Given the description of an element on the screen output the (x, y) to click on. 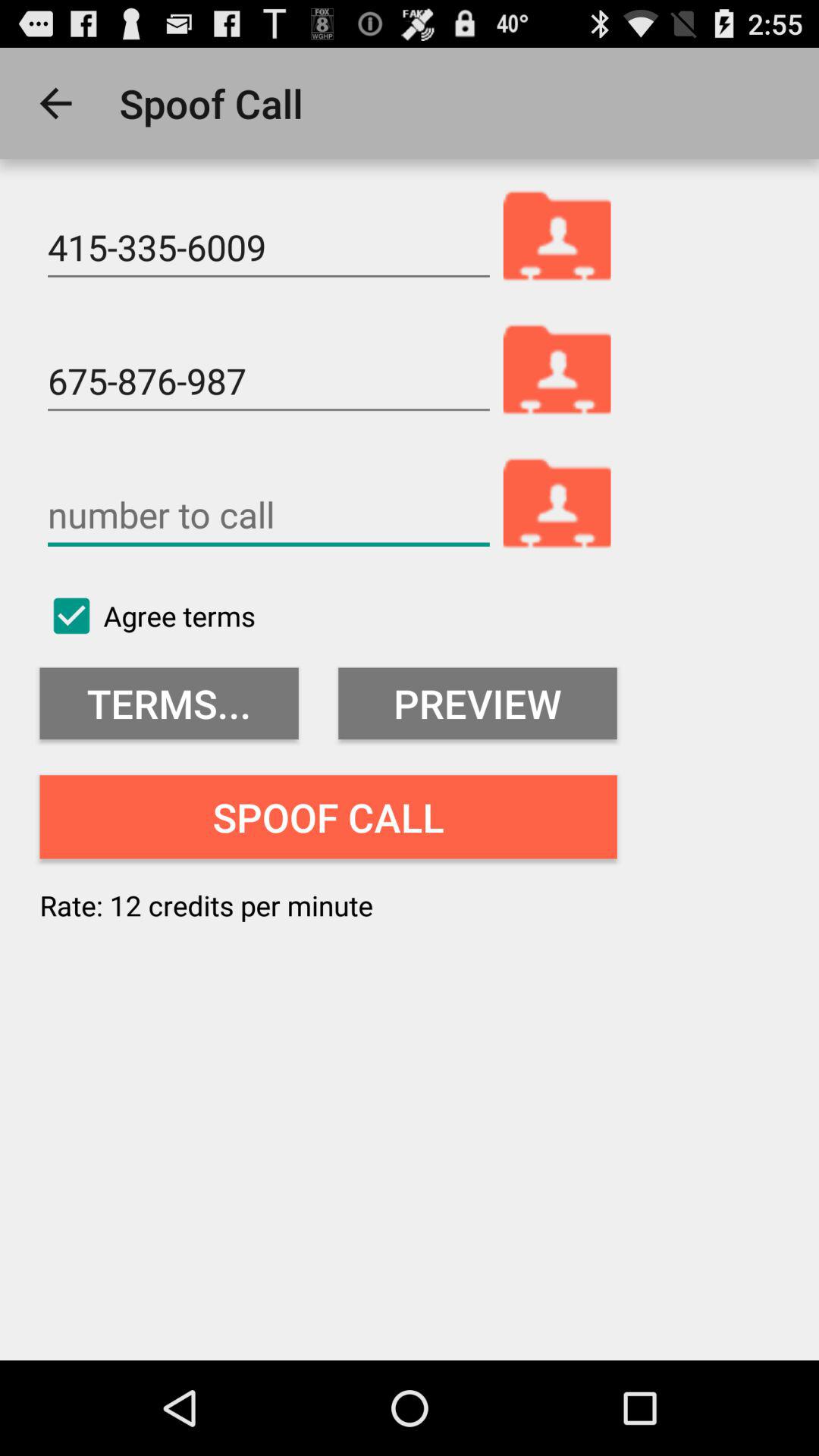
swipe to the preview item (477, 703)
